Given the description of an element on the screen output the (x, y) to click on. 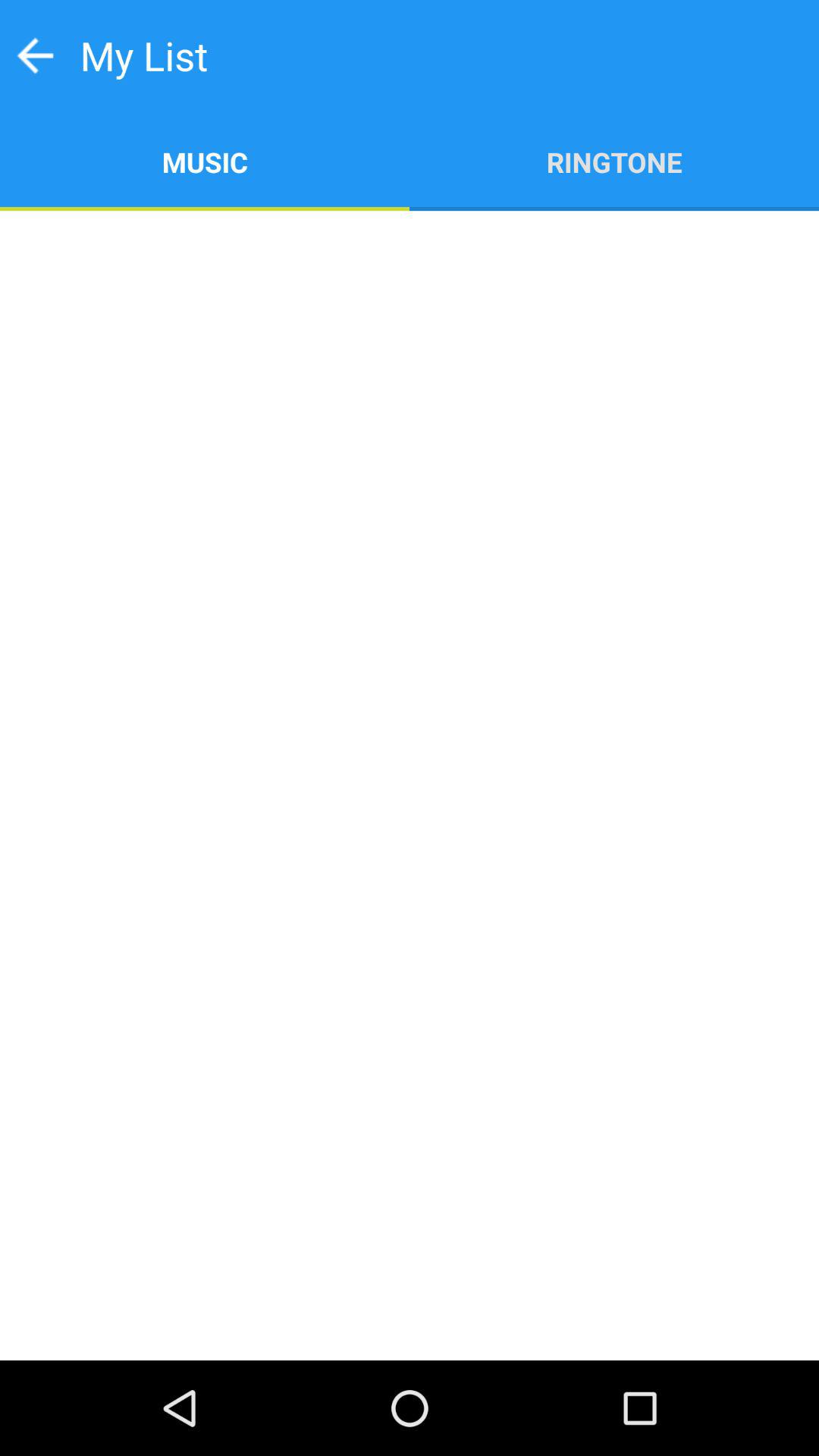
flip until ringtone app (614, 161)
